Given the description of an element on the screen output the (x, y) to click on. 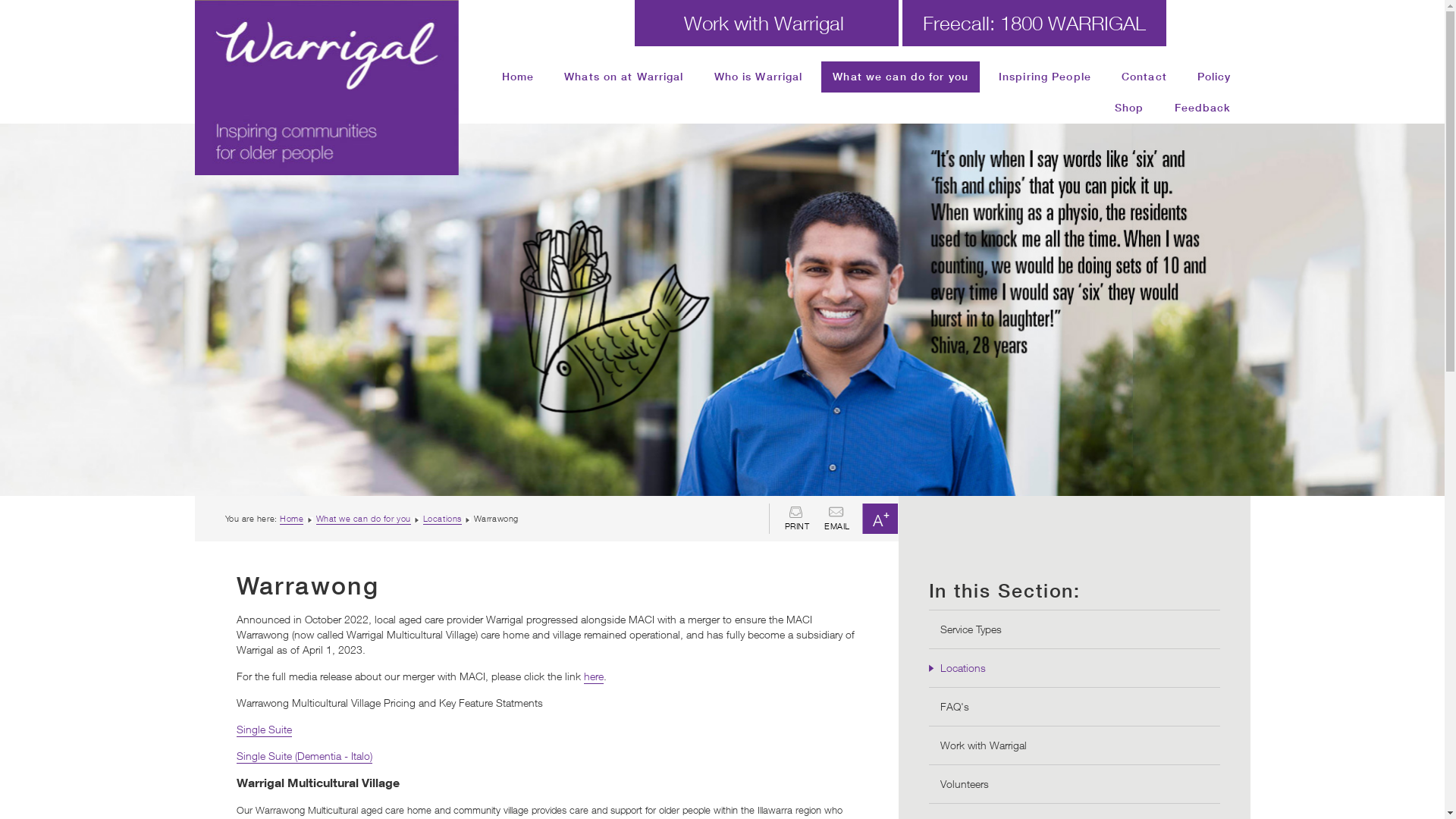
here Element type: text (593, 676)
EMAIL Element type: text (837, 518)
Single Suite (Dementia - Italo) Element type: text (304, 756)
Home Element type: text (517, 76)
Shop Element type: text (1128, 107)
PRINT Element type: text (796, 518)
Service Types Element type: text (970, 629)
Work with Warrigal  Element type: text (766, 22)
Policy Element type: text (1214, 76)
FAQ's Element type: text (954, 706)
Feedback Element type: text (1202, 107)
Contact Element type: text (1144, 76)
What we can do for you Element type: text (900, 76)
Locations Element type: text (442, 518)
Who is Warrigal Element type: text (758, 76)
Home Element type: text (291, 518)
Work with Warrigal Element type: text (983, 745)
What we can do for you Element type: text (363, 518)
Single Suite Element type: text (263, 729)
Locations Element type: text (962, 667)
Volunteers Element type: text (964, 783)
Inspiring People Element type: text (1044, 76)
Whats on at Warrigal Element type: text (623, 76)
